Given the description of an element on the screen output the (x, y) to click on. 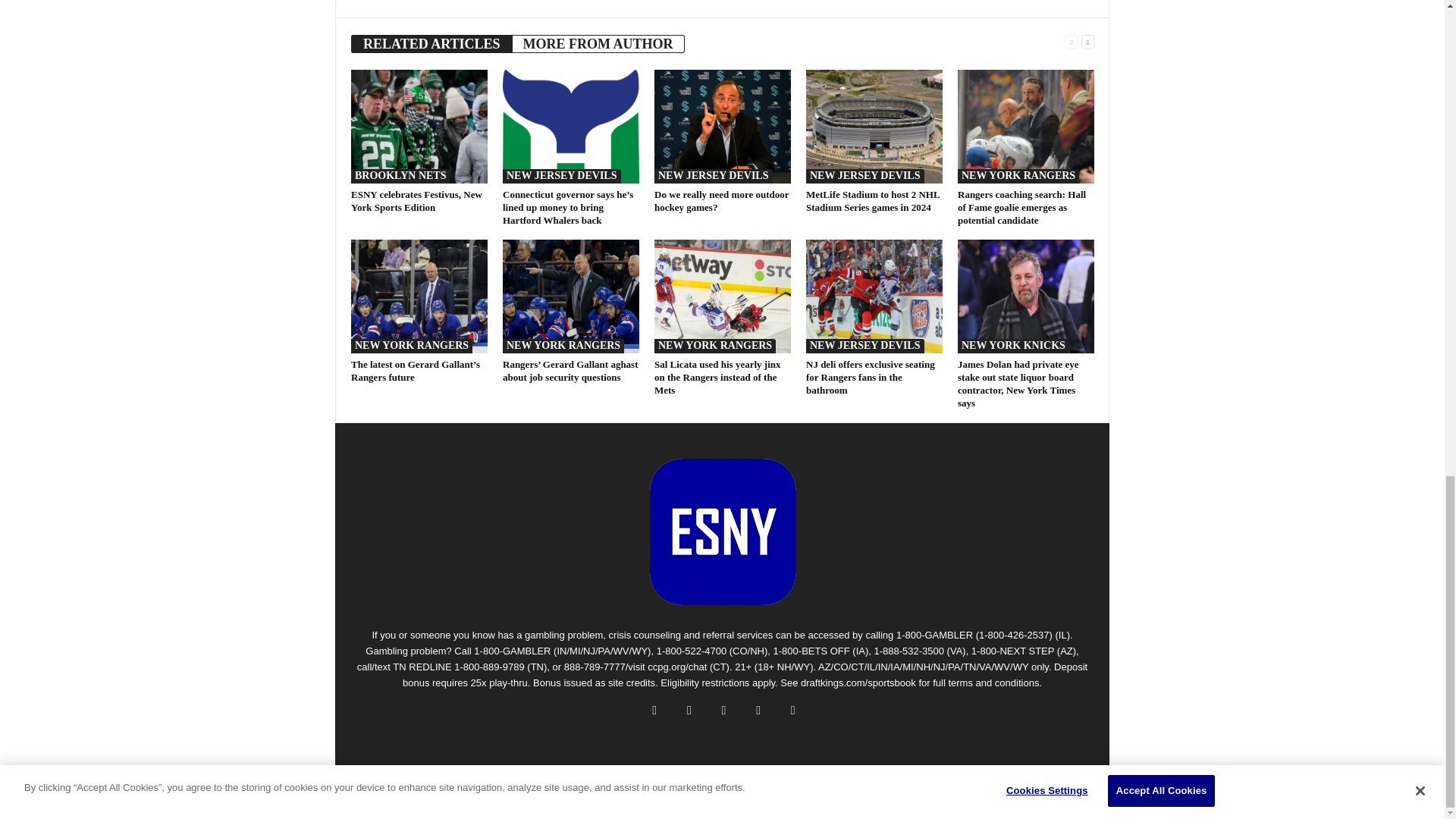
ESNY celebrates Festivus, New York Sports Edition (418, 126)
Facebook (449, 0)
ESNY celebrates Festivus, New York Sports Edition (415, 200)
Twitter (470, 0)
